Given the description of an element on the screen output the (x, y) to click on. 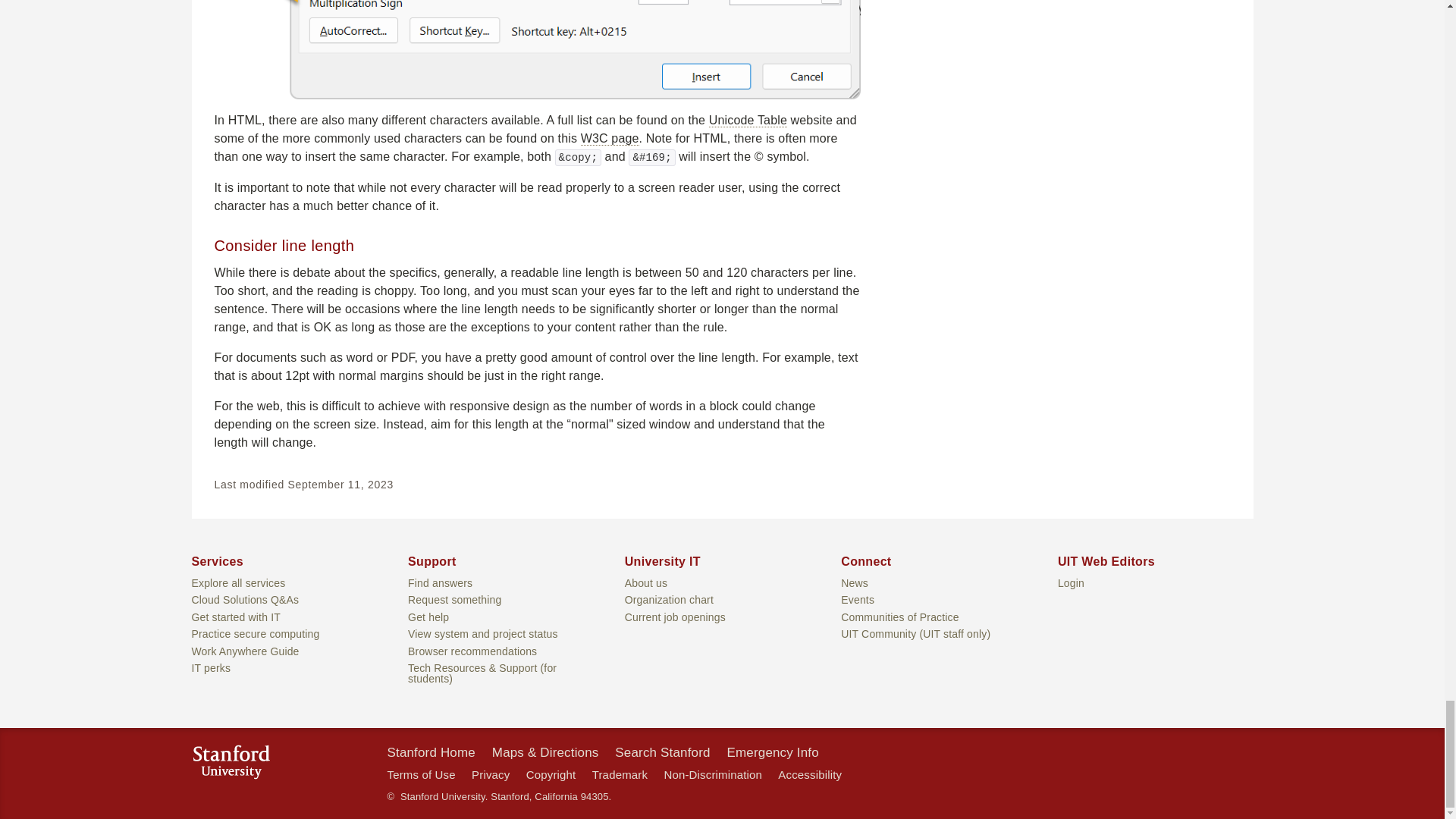
Privacy and cookie policy (490, 774)
Report alleged copyright infringement (550, 774)
Report web accessibility issues (809, 774)
Terms of use for sites (420, 774)
Non-discrimination policy (712, 774)
Ownership and use of Stanford trademarks and images (619, 774)
